Given the description of an element on the screen output the (x, y) to click on. 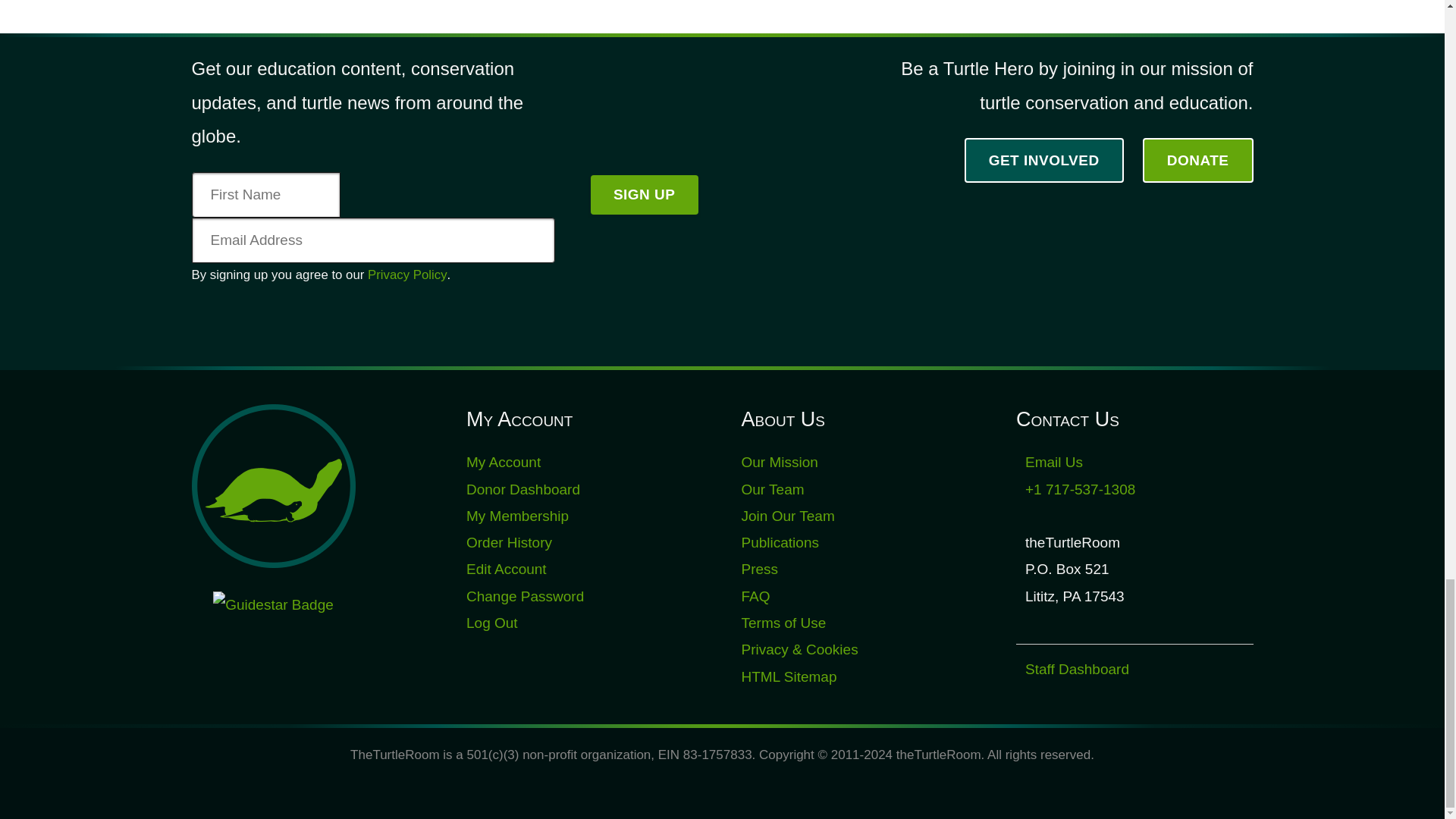
Sign up (644, 194)
Email Us (1054, 462)
Staff Login (1077, 668)
